Given the description of an element on the screen output the (x, y) to click on. 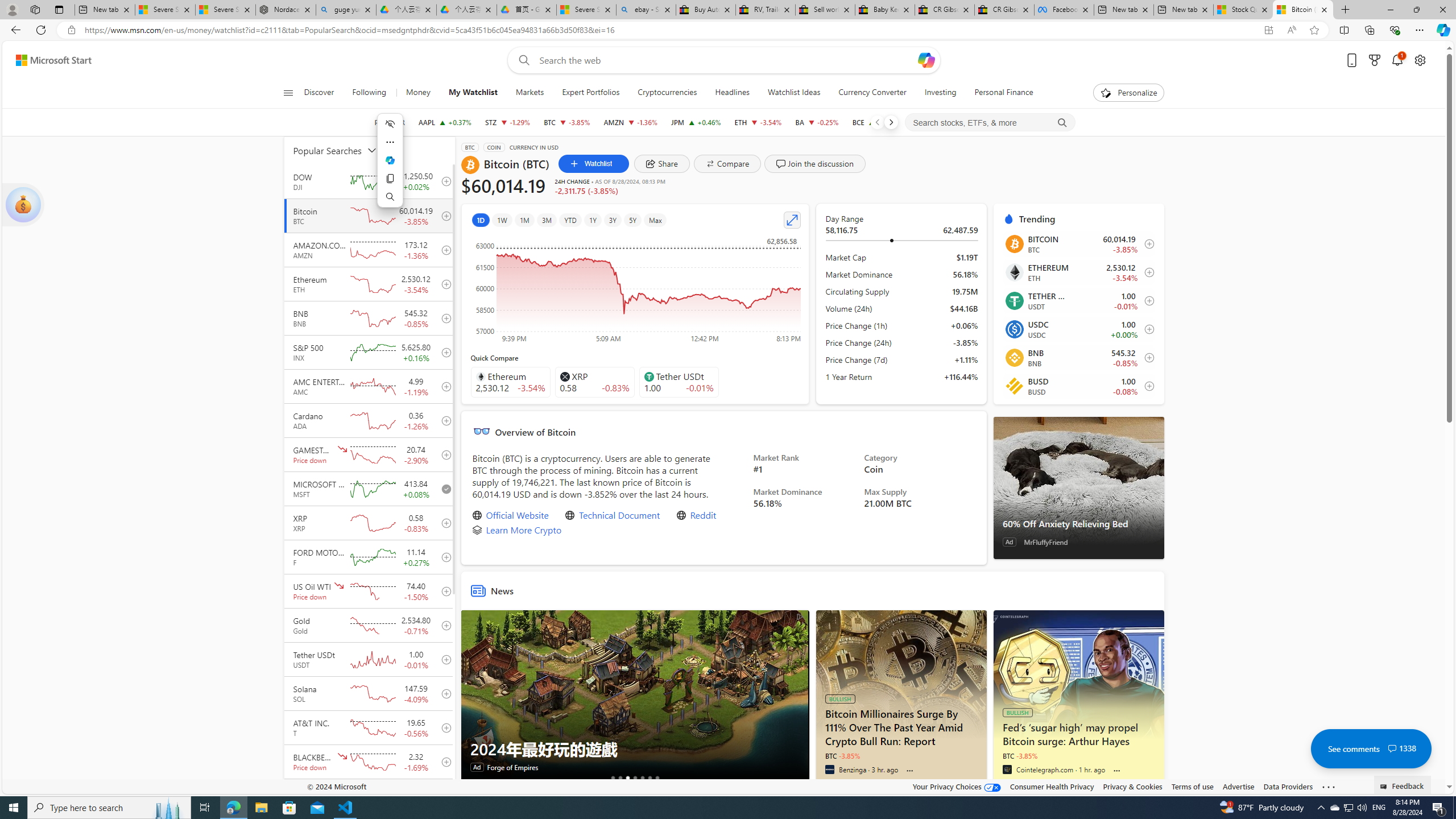
Terms of use (1192, 785)
Currency Converter (872, 92)
1W (502, 219)
Enter your search term (726, 59)
3M (546, 219)
Copy (390, 178)
5Y (632, 219)
BNB BNB decrease 545.32 -4.62 -0.85% itemundefined (1078, 357)
